Given the description of an element on the screen output the (x, y) to click on. 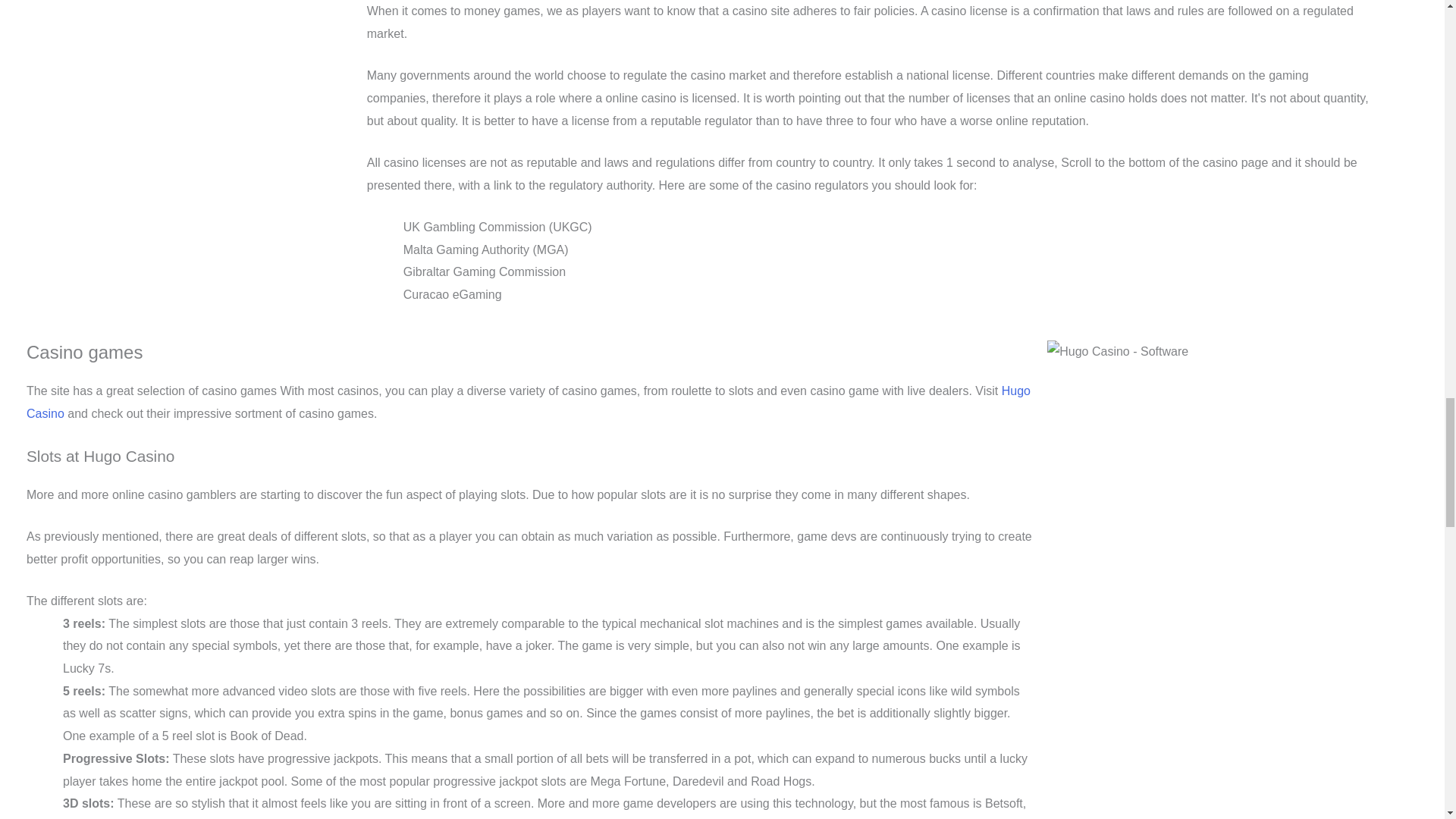
Hugo Casino (528, 402)
